Given the description of an element on the screen output the (x, y) to click on. 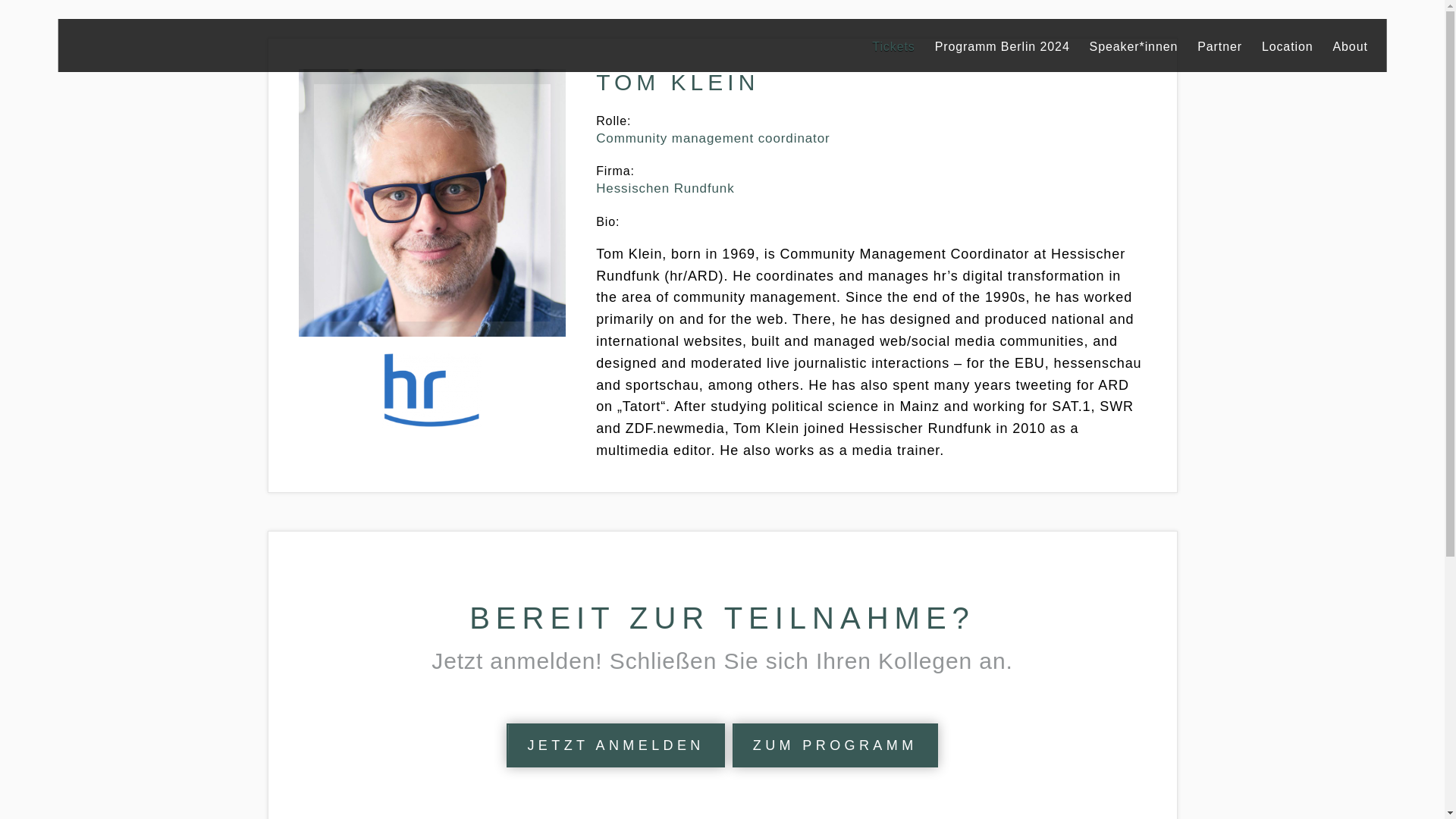
Jetzt Anmelden (614, 745)
zum Programm (834, 745)
Programm Berlin 2024 (1002, 45)
ZUM PROGRAMM (834, 745)
Location (1287, 45)
JETZT ANMELDEN (614, 745)
